Given the description of an element on the screen output the (x, y) to click on. 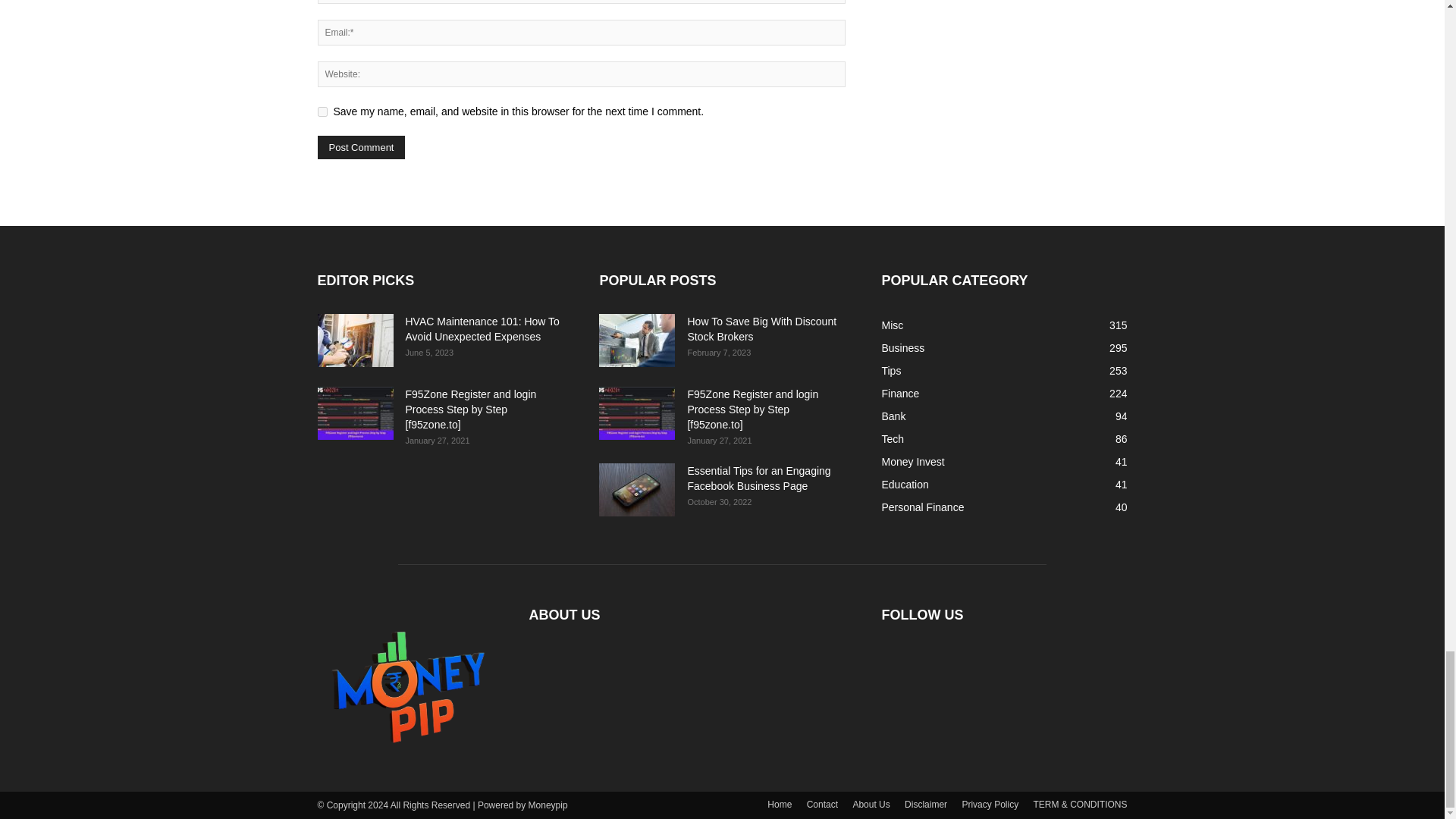
Post Comment (360, 146)
yes (321, 112)
